Given the description of an element on the screen output the (x, y) to click on. 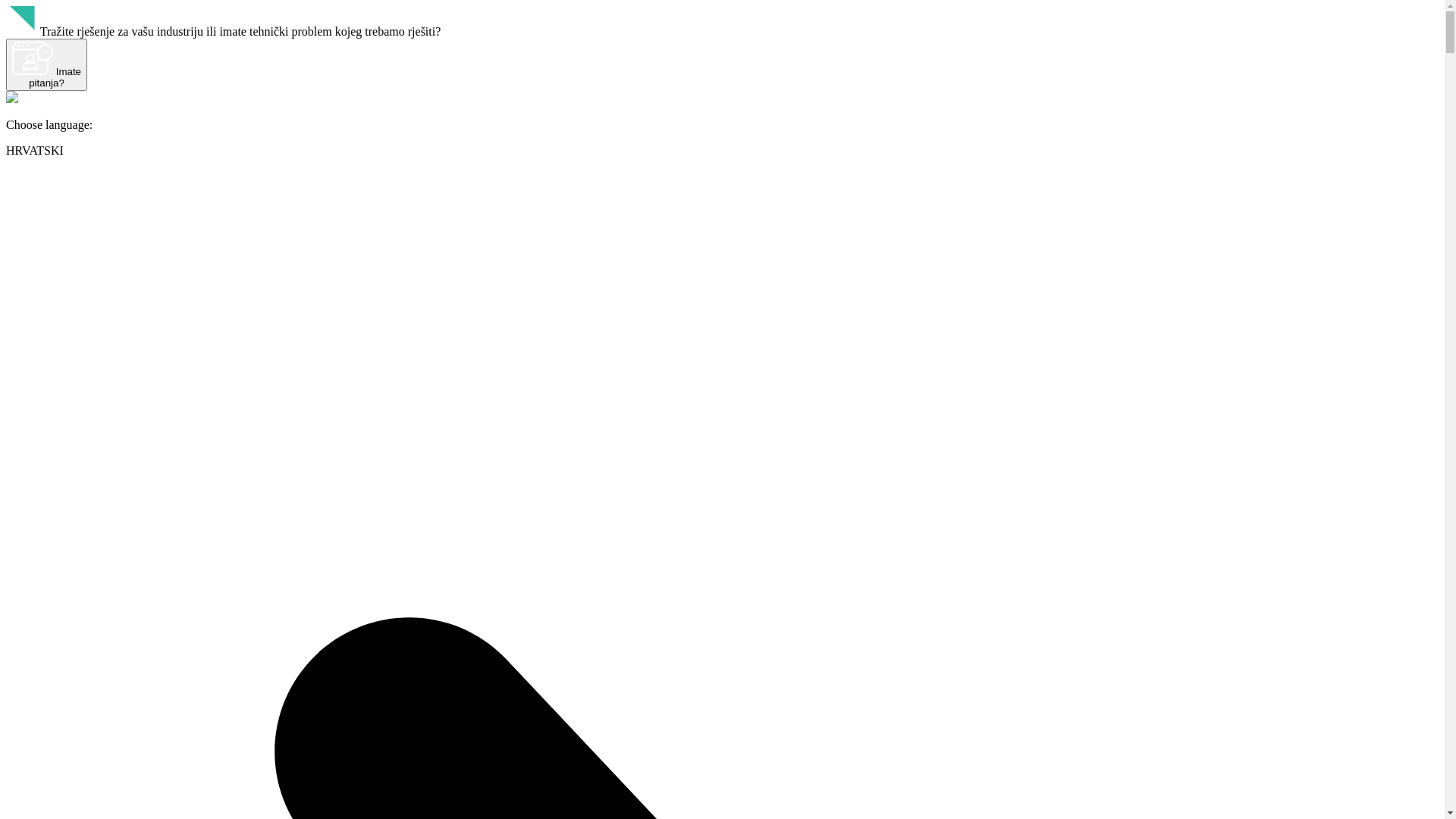
Imate
pitanja? Element type: text (46, 64)
